Given the description of an element on the screen output the (x, y) to click on. 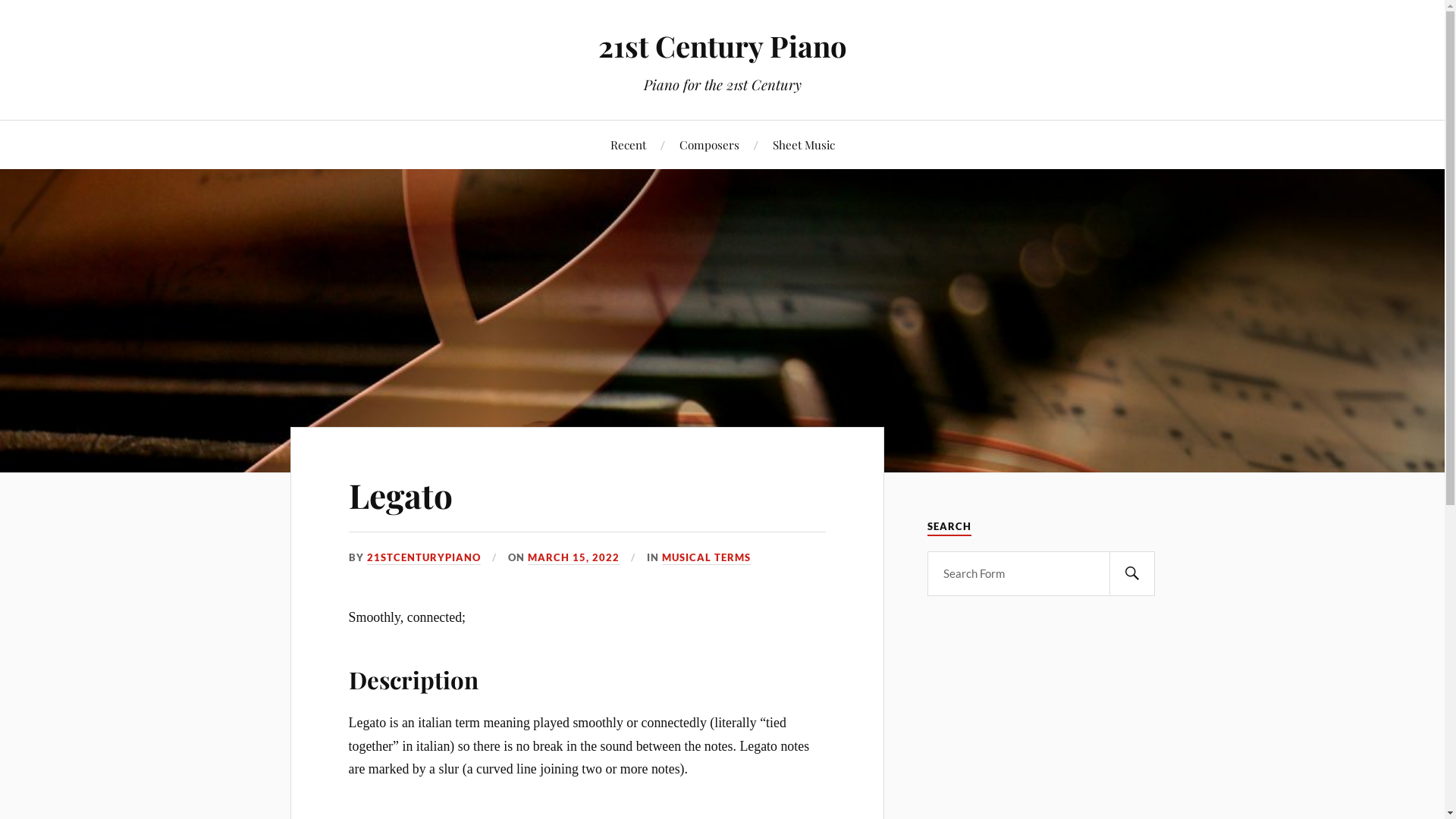
MARCH 15, 2022 Element type: text (573, 557)
21st Century Piano Element type: text (721, 45)
MUSICAL TERMS Element type: text (706, 557)
Recent Element type: text (627, 144)
Legato Element type: text (400, 494)
Sheet Music Element type: text (802, 144)
21STCENTURYPIANO Element type: text (423, 557)
Composers Element type: text (709, 144)
